Given the description of an element on the screen output the (x, y) to click on. 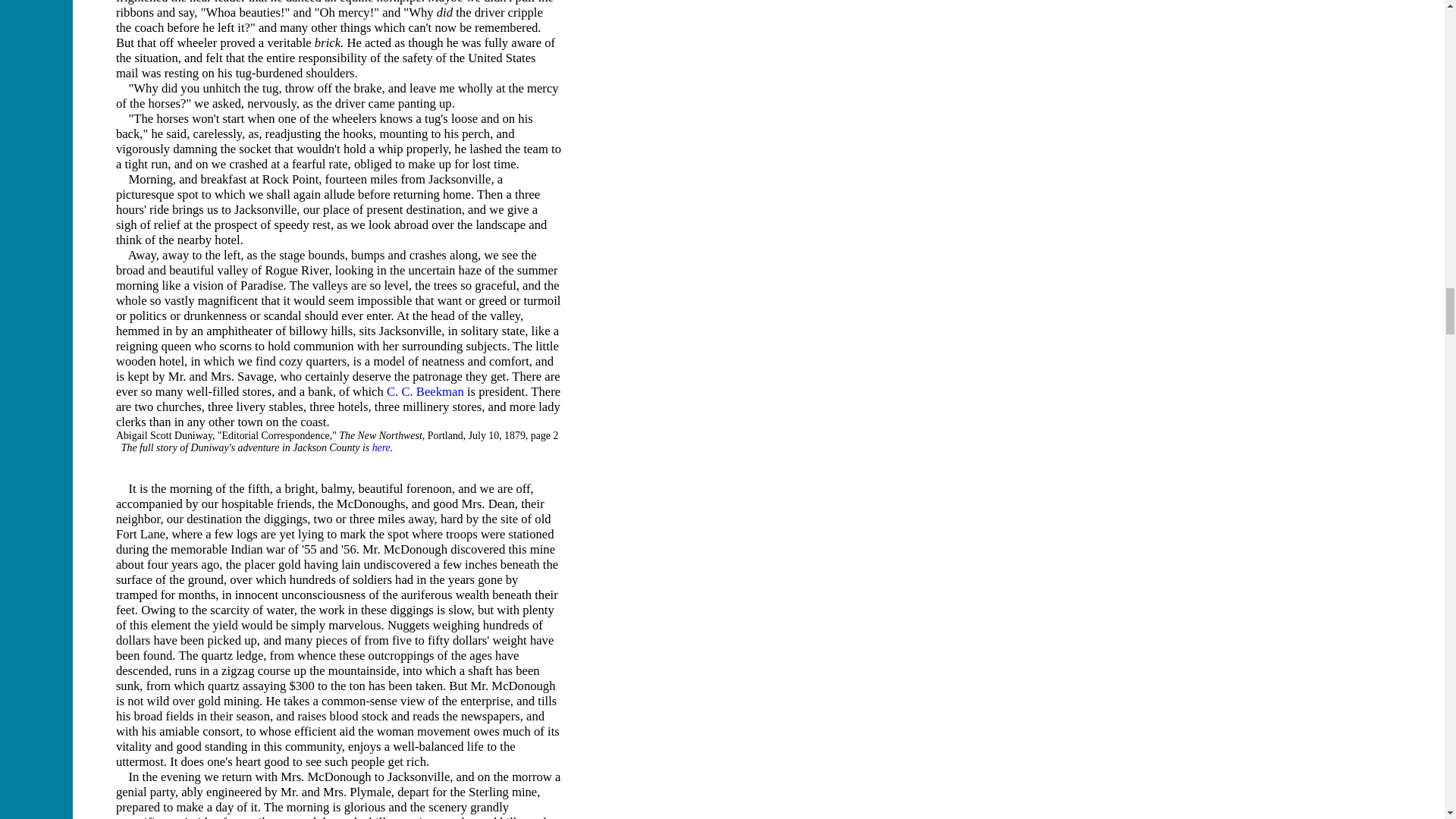
here (381, 447)
C. C. Beekman (425, 391)
